Given the description of an element on the screen output the (x, y) to click on. 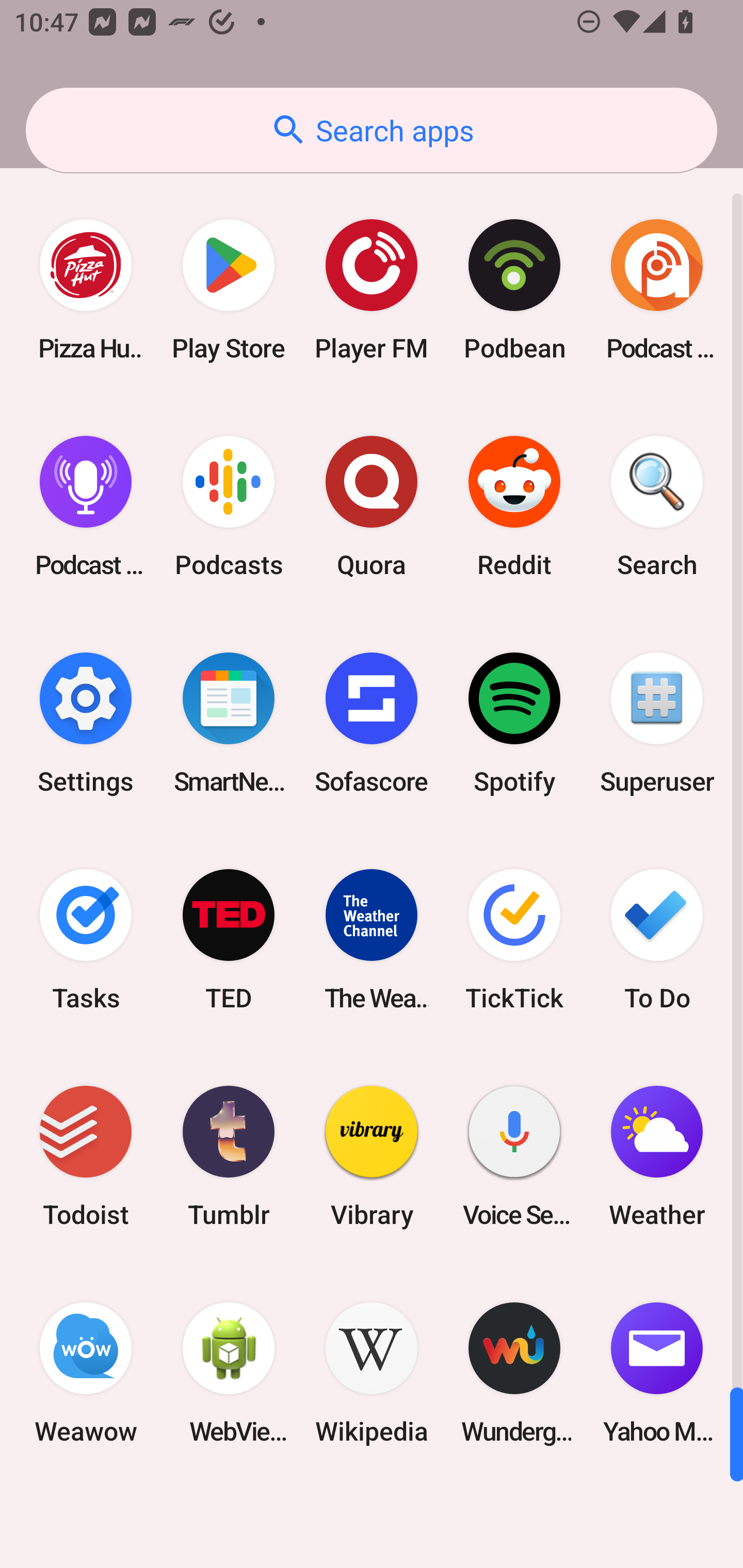
  Search apps (371, 130)
Pizza Hut HK & Macau (85, 289)
Play Store (228, 289)
Player FM (371, 289)
Podbean (514, 289)
Podcast Addict (656, 289)
Podcast Player (85, 506)
Podcasts (228, 506)
Quora (371, 506)
Reddit (514, 506)
Search (656, 506)
Settings (85, 722)
SmartNews (228, 722)
Sofascore (371, 722)
Spotify (514, 722)
Superuser (656, 722)
Tasks (85, 939)
TED (228, 939)
The Weather Channel (371, 939)
TickTick (514, 939)
To Do (656, 939)
Todoist (85, 1156)
Tumblr (228, 1156)
Vibrary (371, 1156)
Voice Search (514, 1156)
Weather (656, 1156)
Weawow (85, 1373)
WebView Browser Tester (228, 1373)
Wikipedia (371, 1373)
Wunderground (514, 1373)
Yahoo Mail (656, 1373)
